Given the description of an element on the screen output the (x, y) to click on. 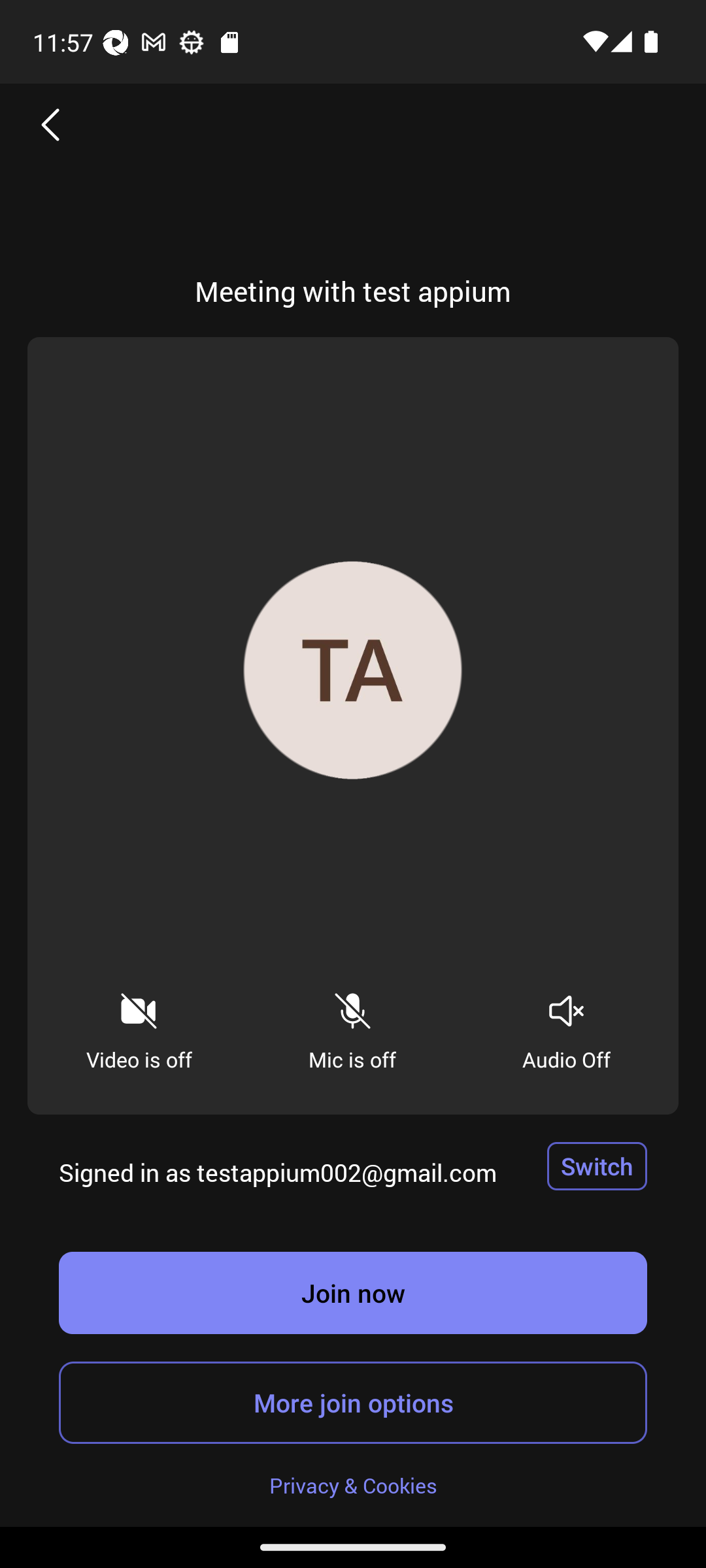
Back (51, 124)
Video is off (138, 1025)
Mic muted Mic is off (352, 1025)
Audio Audio Off Audio Audio Off (566, 1025)
Switch (597, 1165)
Join now (352, 1292)
More join options (352, 1402)
Privacy & Cookies (352, 1484)
